Given the description of an element on the screen output the (x, y) to click on. 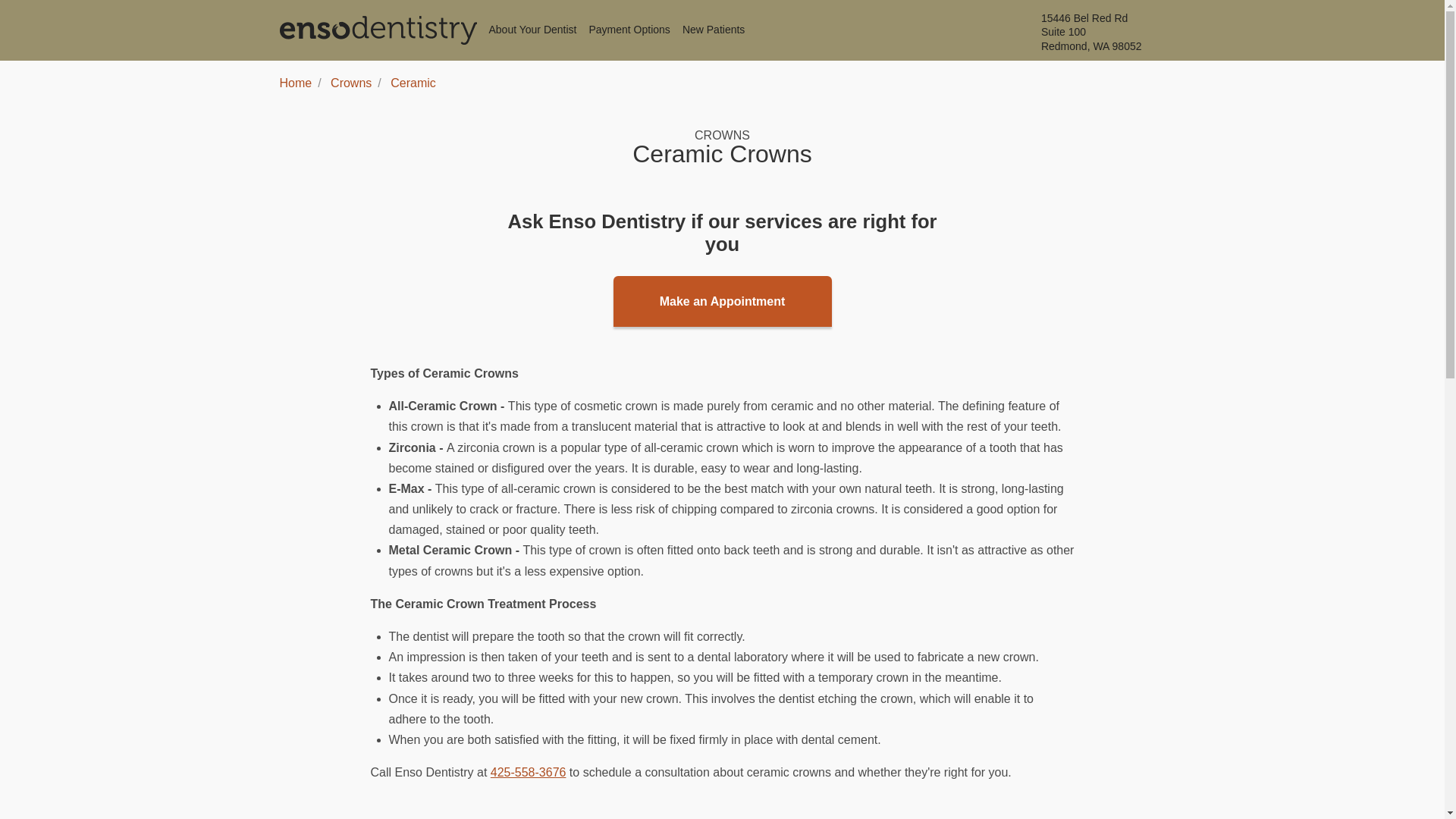
Payment Options (628, 29)
Make an Appointment (721, 301)
Ceramic (412, 82)
425-558-3676 (528, 771)
About Your Dentist (1103, 32)
Home (531, 29)
New Patients (295, 82)
Crowns (713, 29)
